Given the description of an element on the screen output the (x, y) to click on. 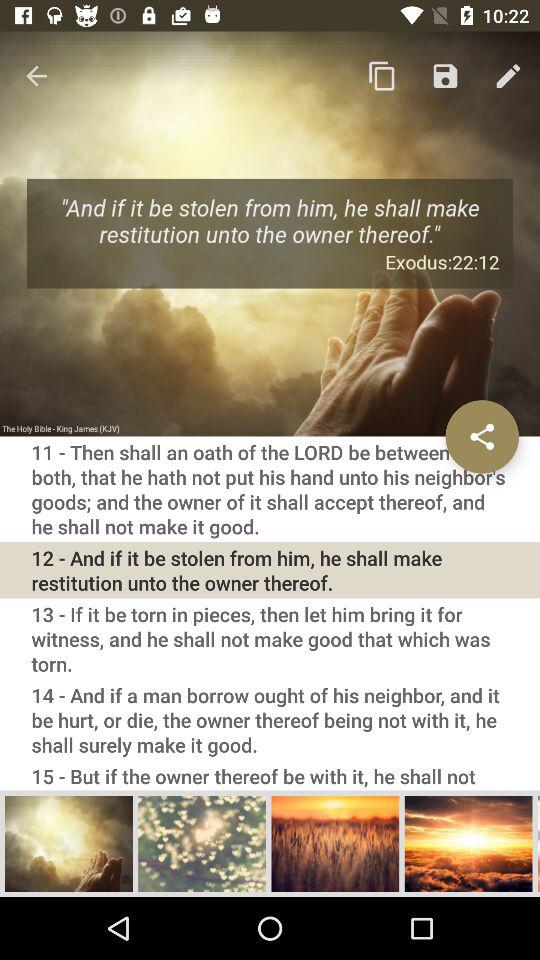
select picture (468, 843)
